Given the description of an element on the screen output the (x, y) to click on. 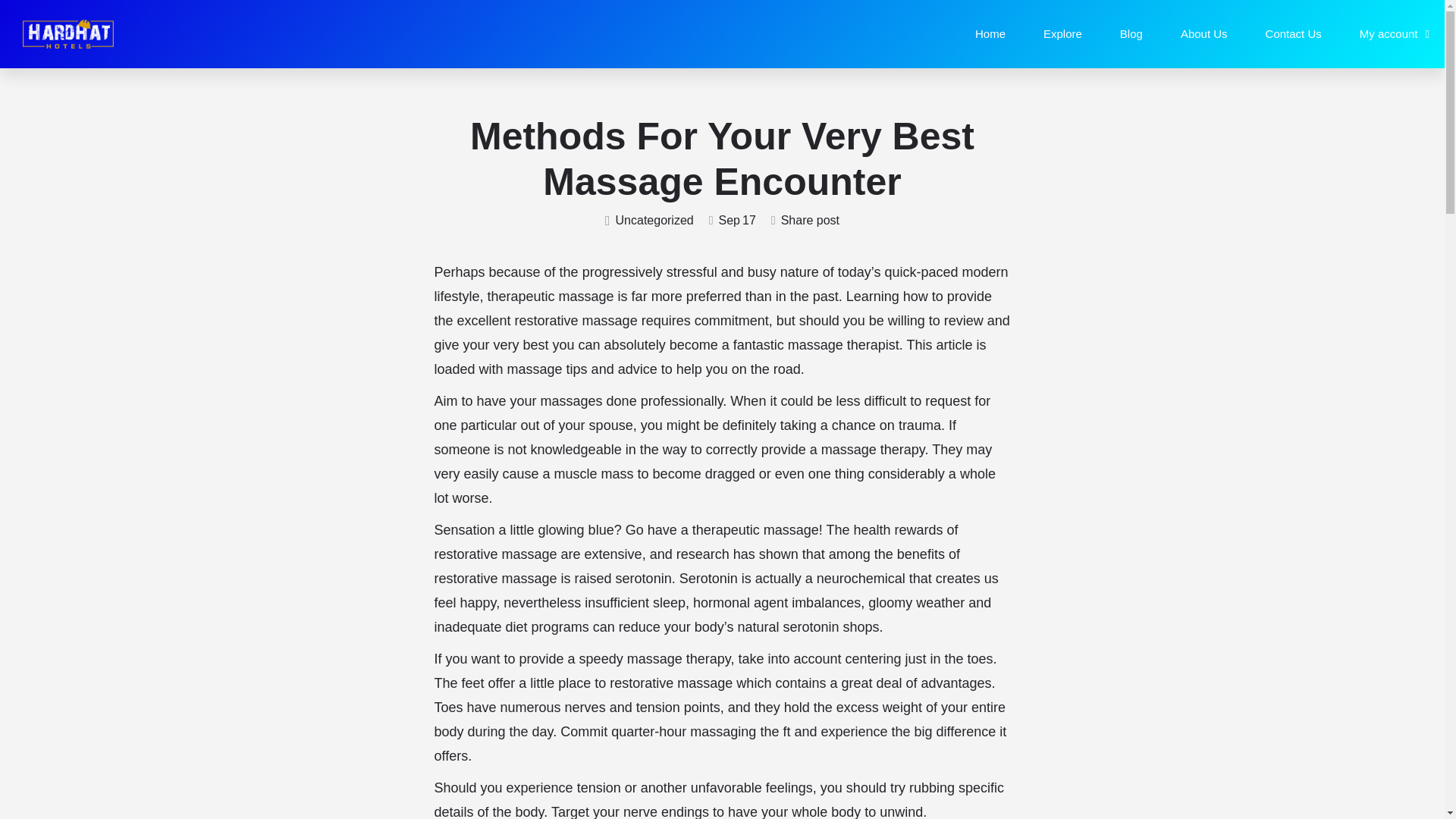
Uncategorized (649, 221)
Share post (805, 221)
My account (1394, 33)
